Given the description of an element on the screen output the (x, y) to click on. 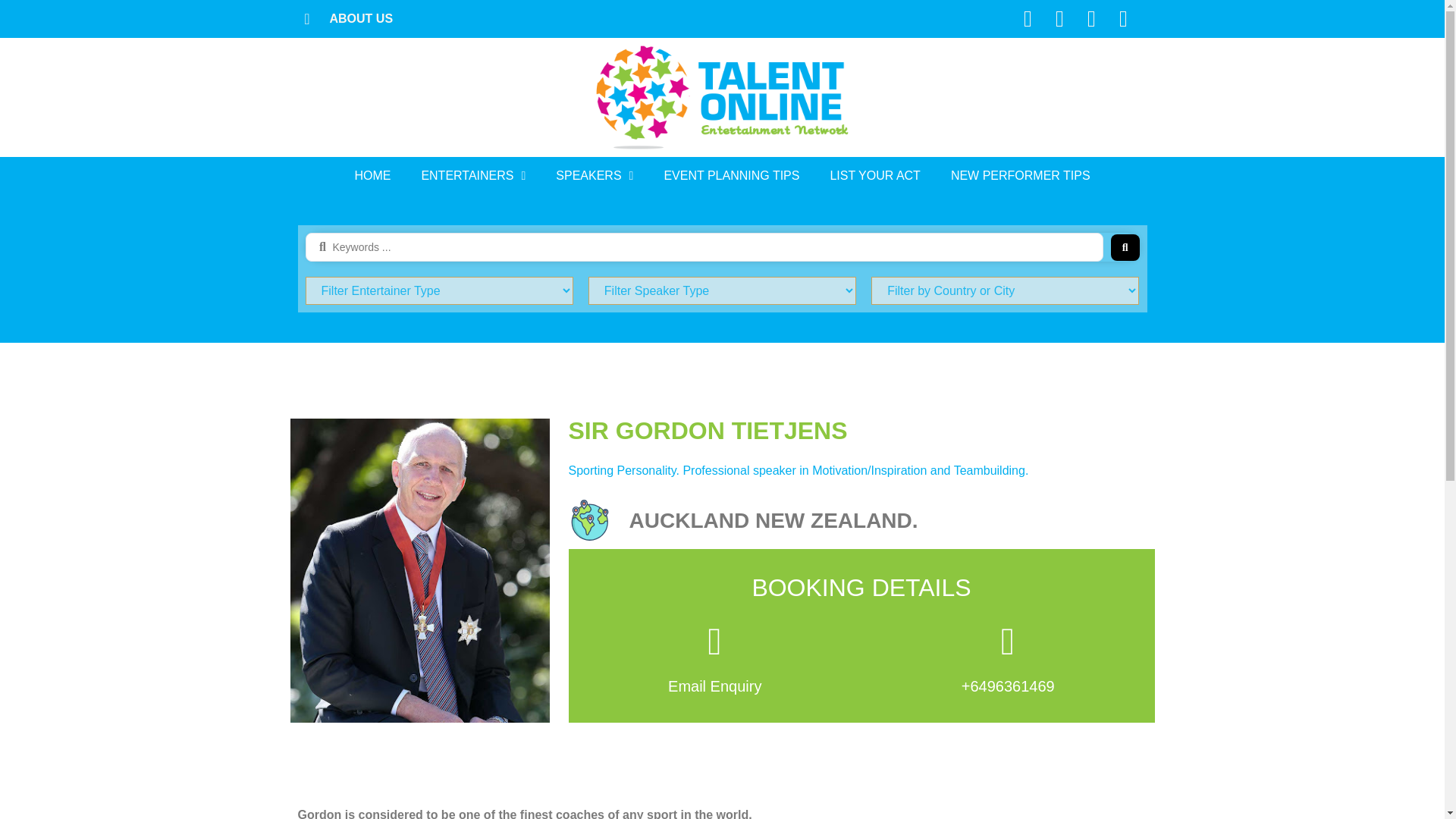
SPEAKERS (594, 176)
ENTERTAINERS (472, 176)
ABOUT US (345, 18)
NEW PERFORMER TIPS (1020, 176)
HOME (371, 176)
EVENT PLANNING TIPS (731, 176)
LIST YOUR ACT (874, 176)
